Given the description of an element on the screen output the (x, y) to click on. 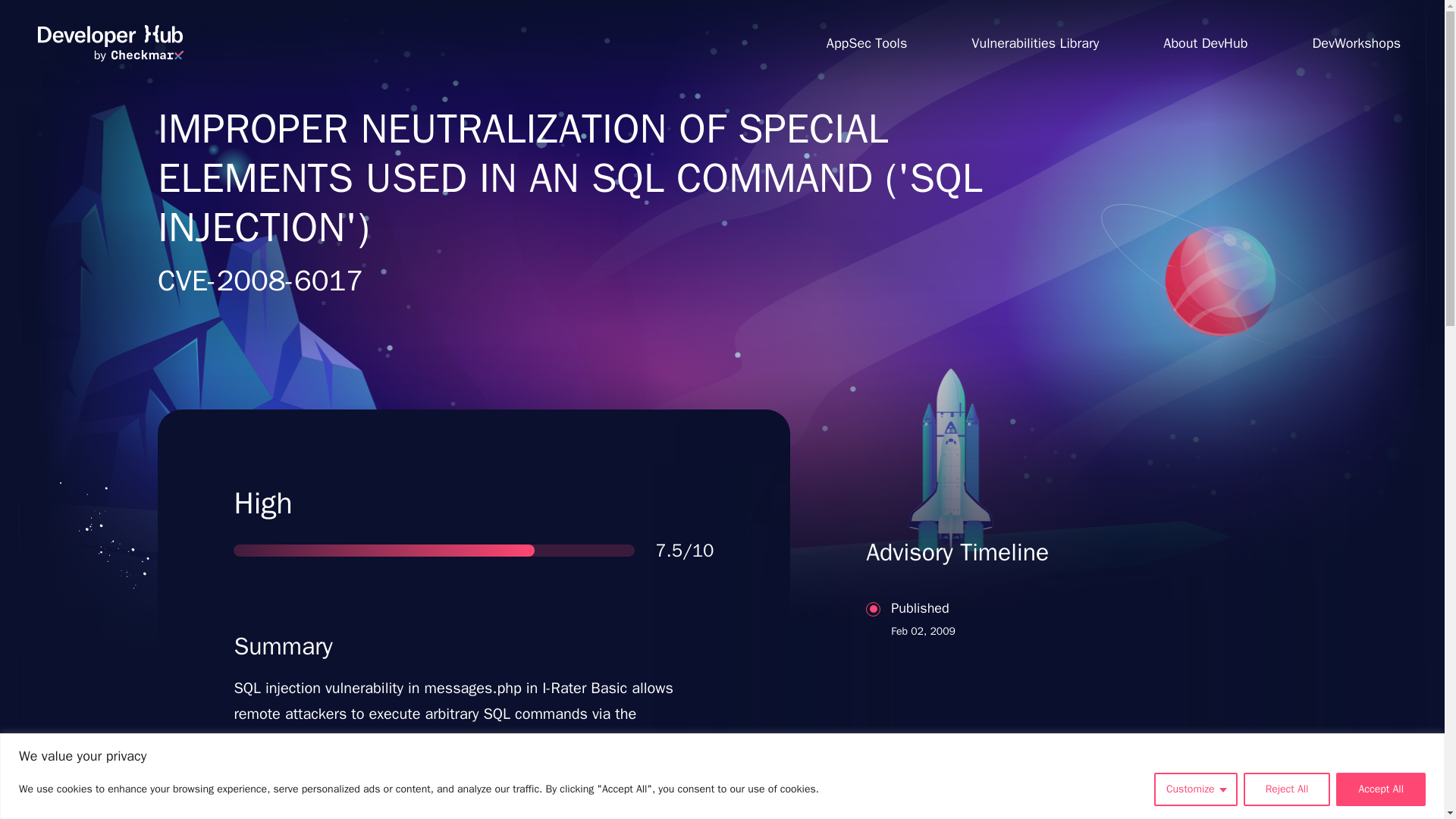
DevWorkshops (1356, 43)
AppSec Tools (866, 43)
About DevHub (1205, 43)
Goto website home page (110, 43)
Accept All (1380, 788)
Vulnerabilities Library (1035, 43)
Reject All (1037, 678)
Customize (1286, 788)
